Given the description of an element on the screen output the (x, y) to click on. 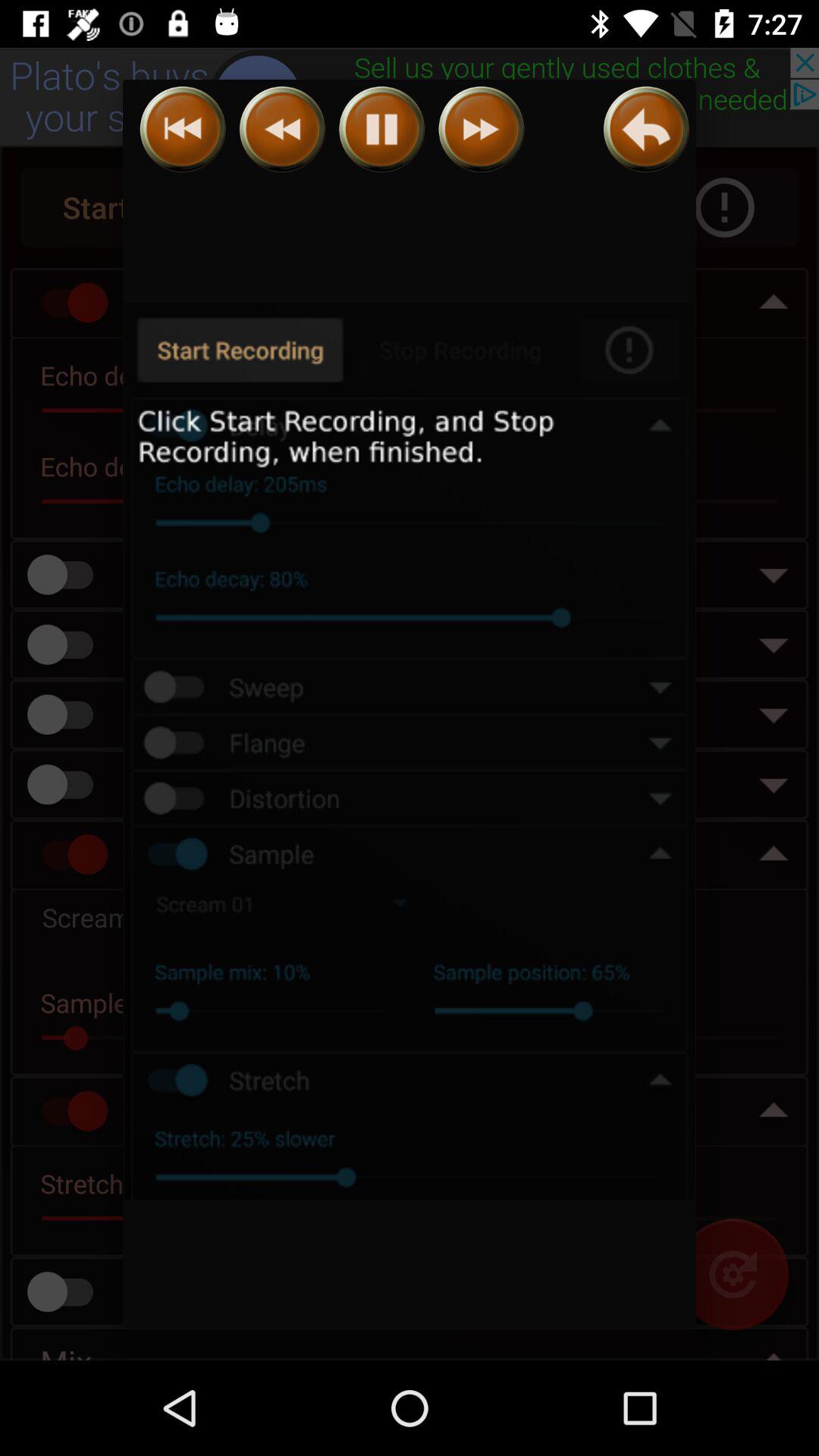
choose all (409, 751)
